Given the description of an element on the screen output the (x, y) to click on. 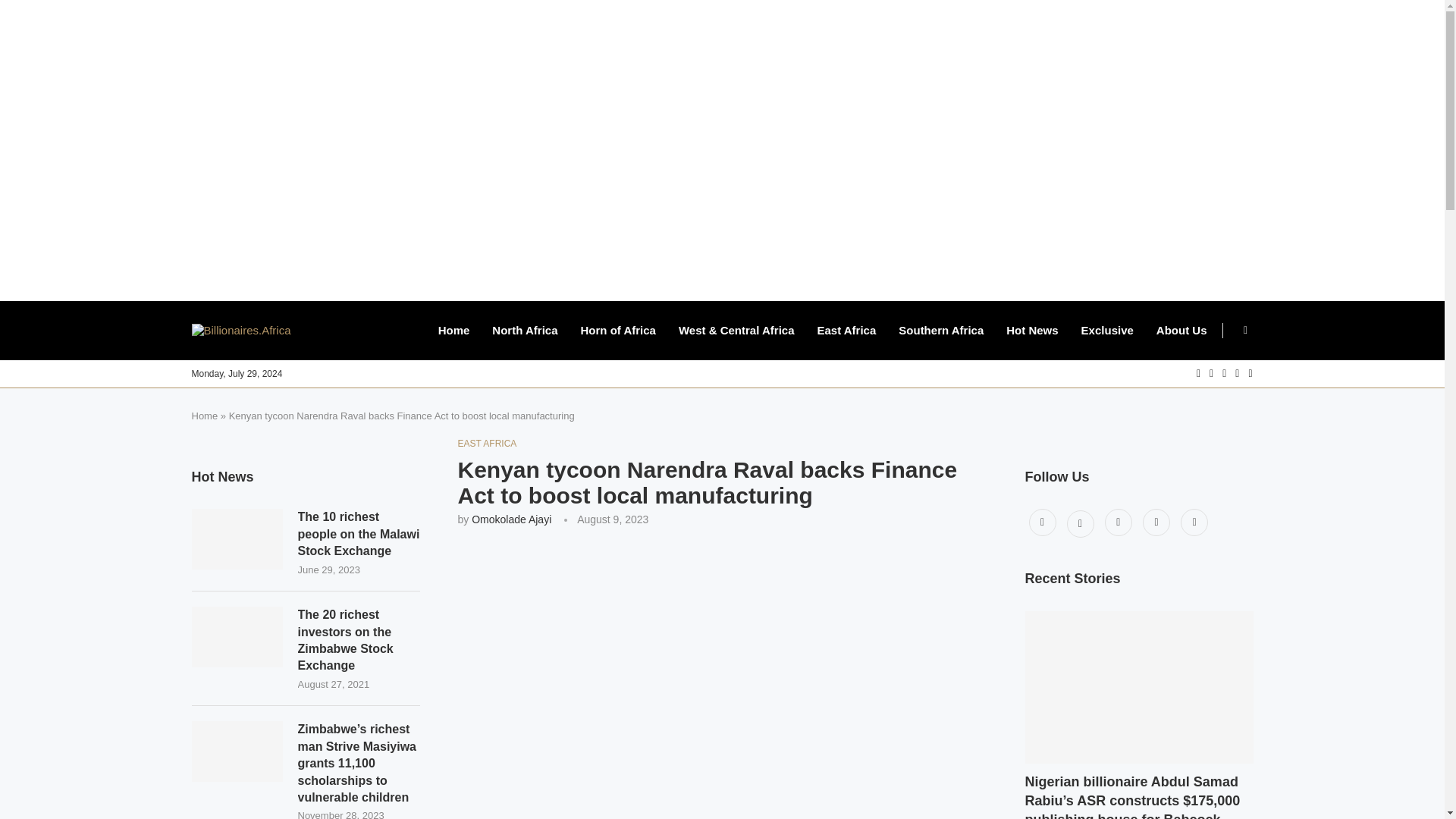
About Us (1181, 330)
Hot News (1032, 330)
Horn of Africa (617, 330)
Southern Africa (941, 330)
North Africa (524, 330)
Exclusive (1107, 330)
East Africa (846, 330)
